Given the description of an element on the screen output the (x, y) to click on. 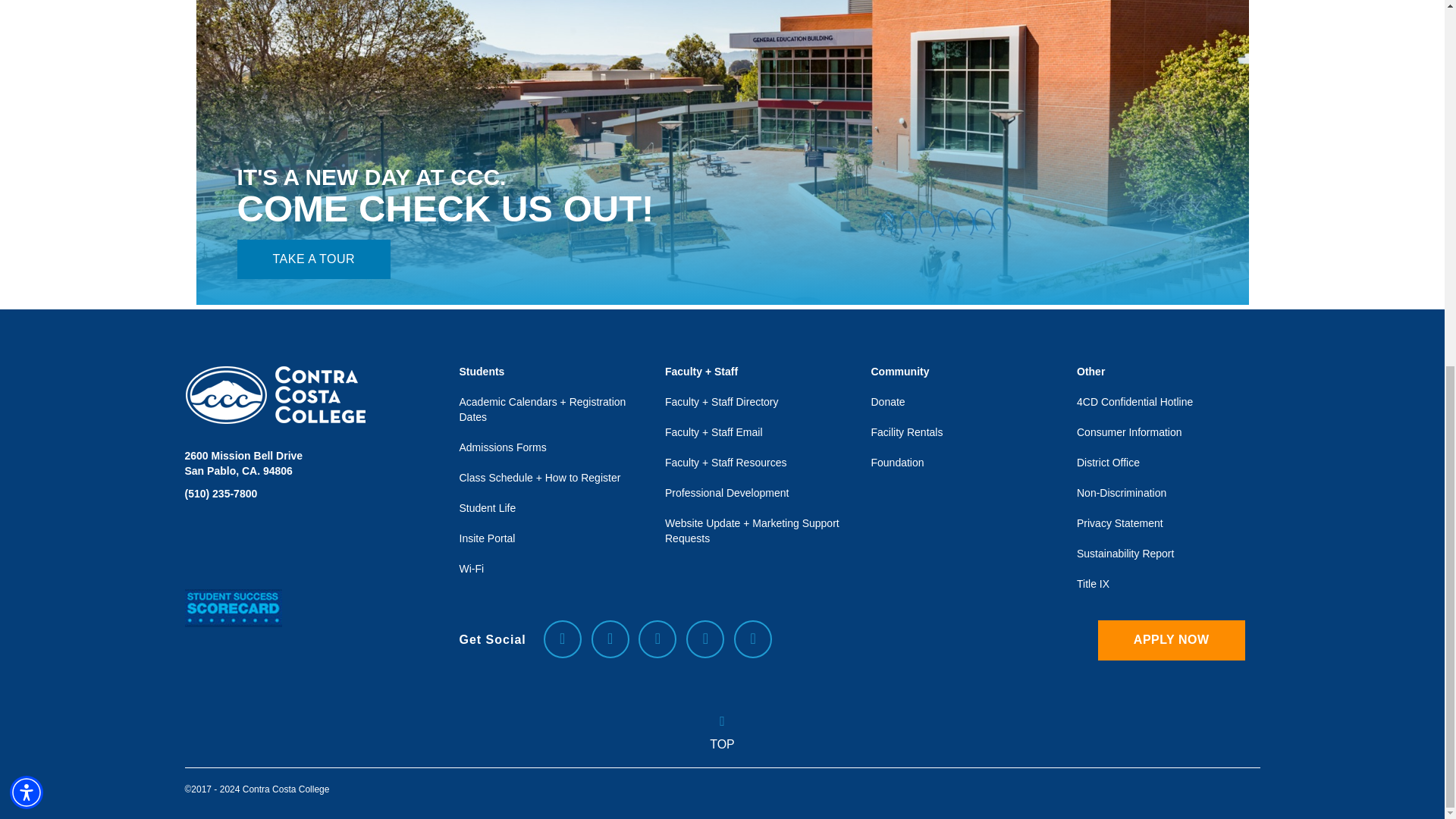
Accessibility Menu (26, 133)
TOP (722, 740)
